Given the description of an element on the screen output the (x, y) to click on. 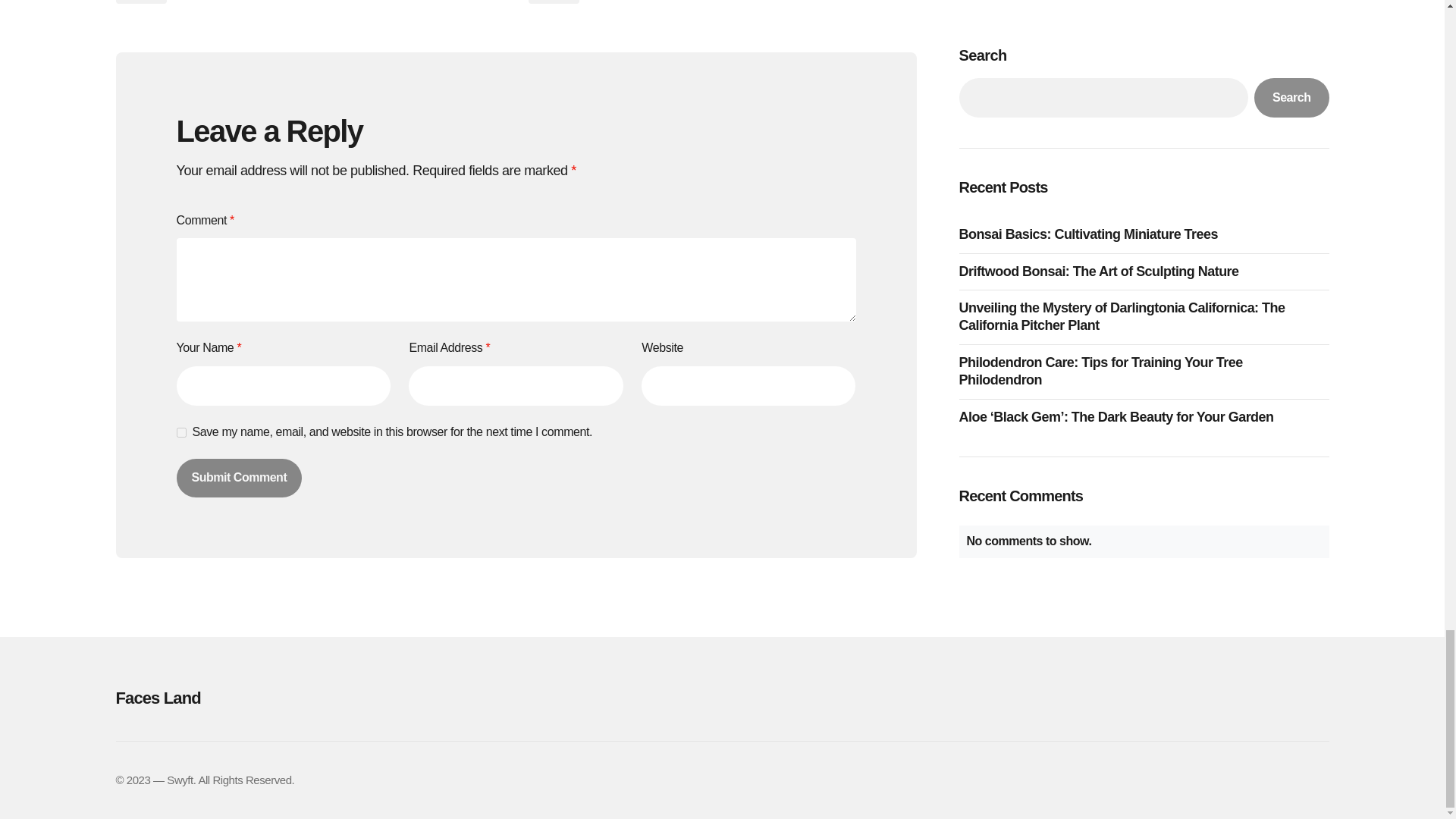
yes (181, 432)
Bonsai (140, 2)
Faces Land (305, 697)
Bonsai (552, 2)
Submit Comment (238, 477)
